Given the description of an element on the screen output the (x, y) to click on. 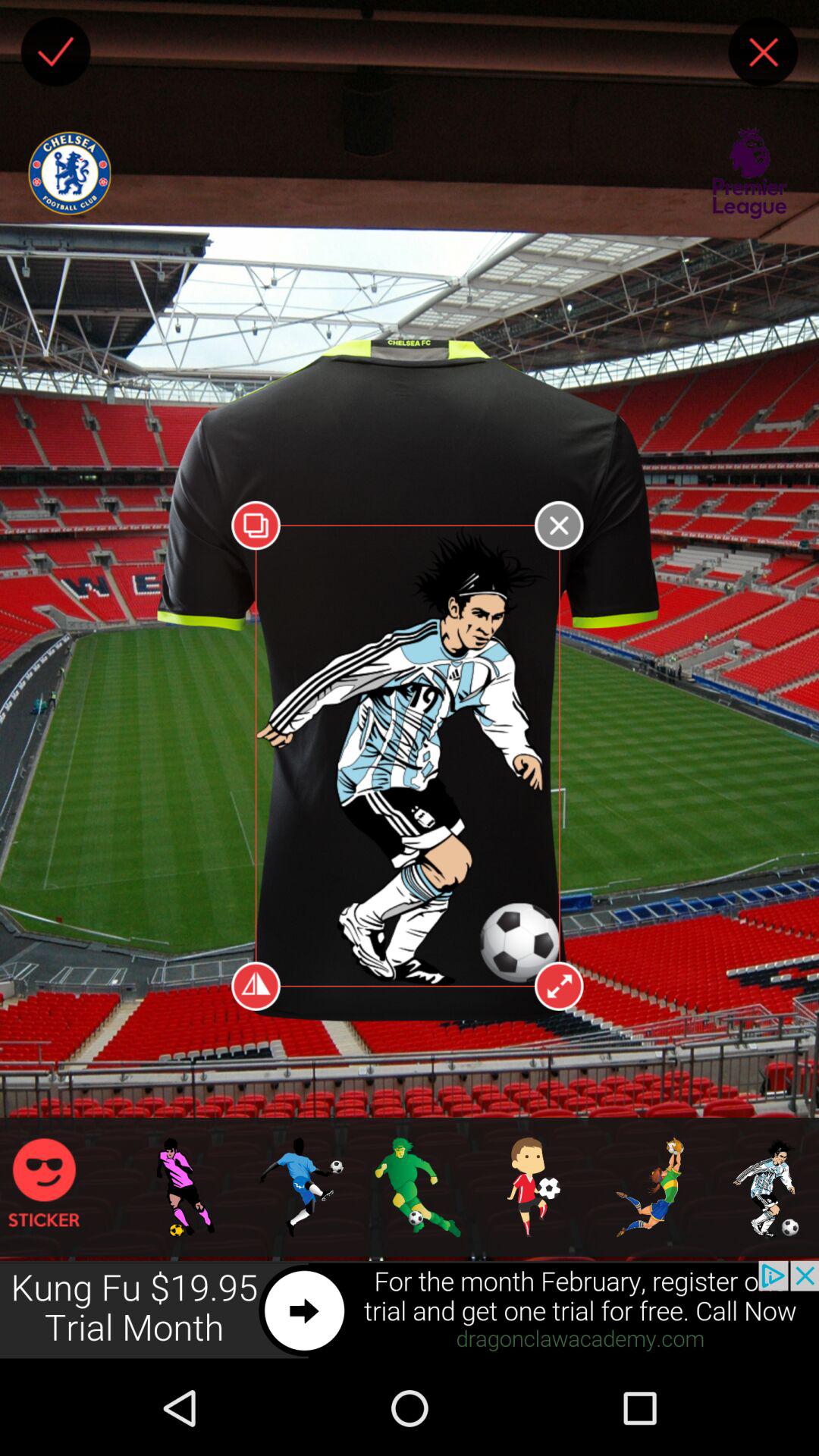
checkmark box (55, 51)
